Given the description of an element on the screen output the (x, y) to click on. 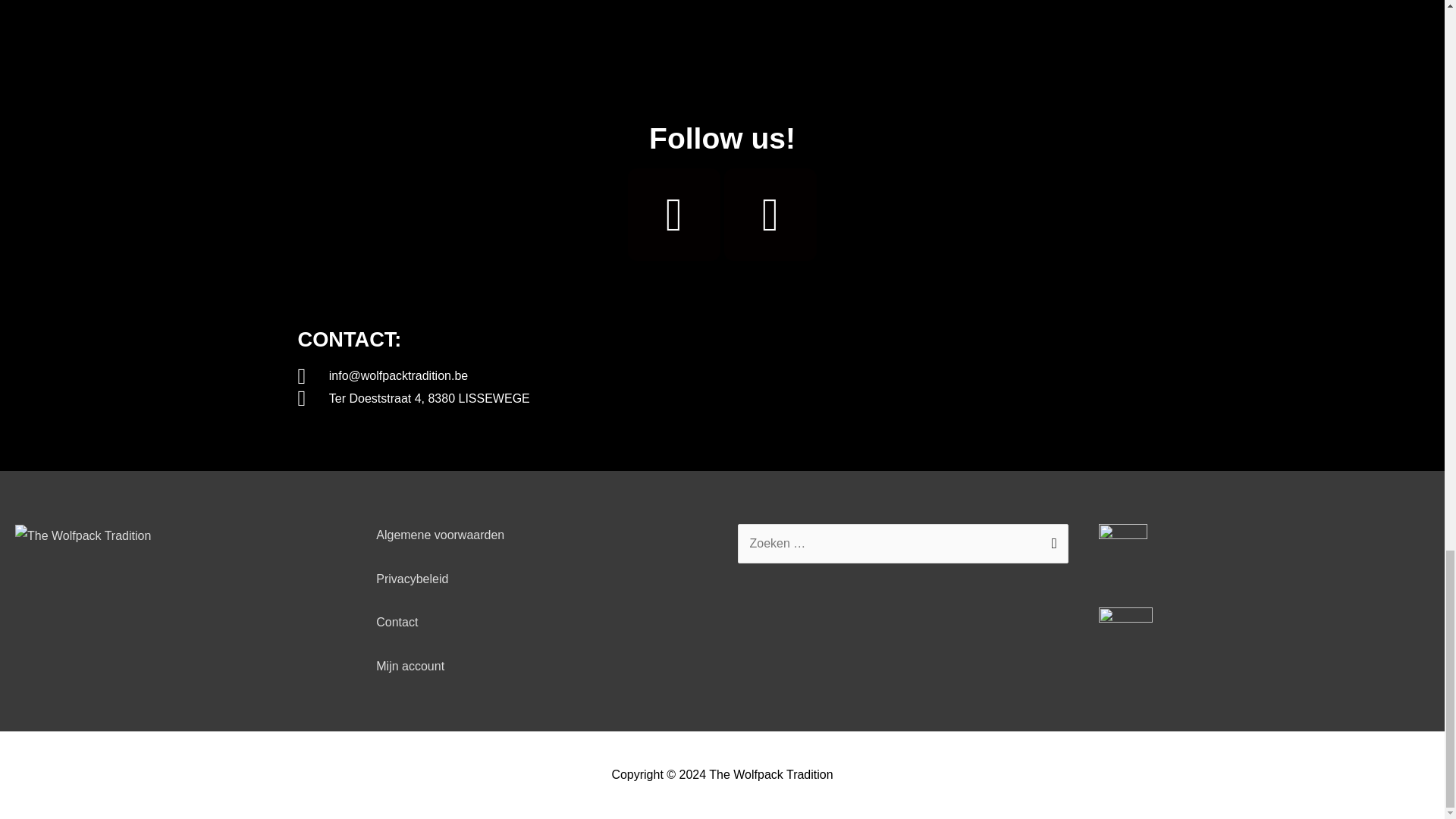
Algemene voorwaarden (439, 534)
Privacybeleid (411, 578)
Mijn account (409, 666)
Contact (396, 621)
